Given the description of an element on the screen output the (x, y) to click on. 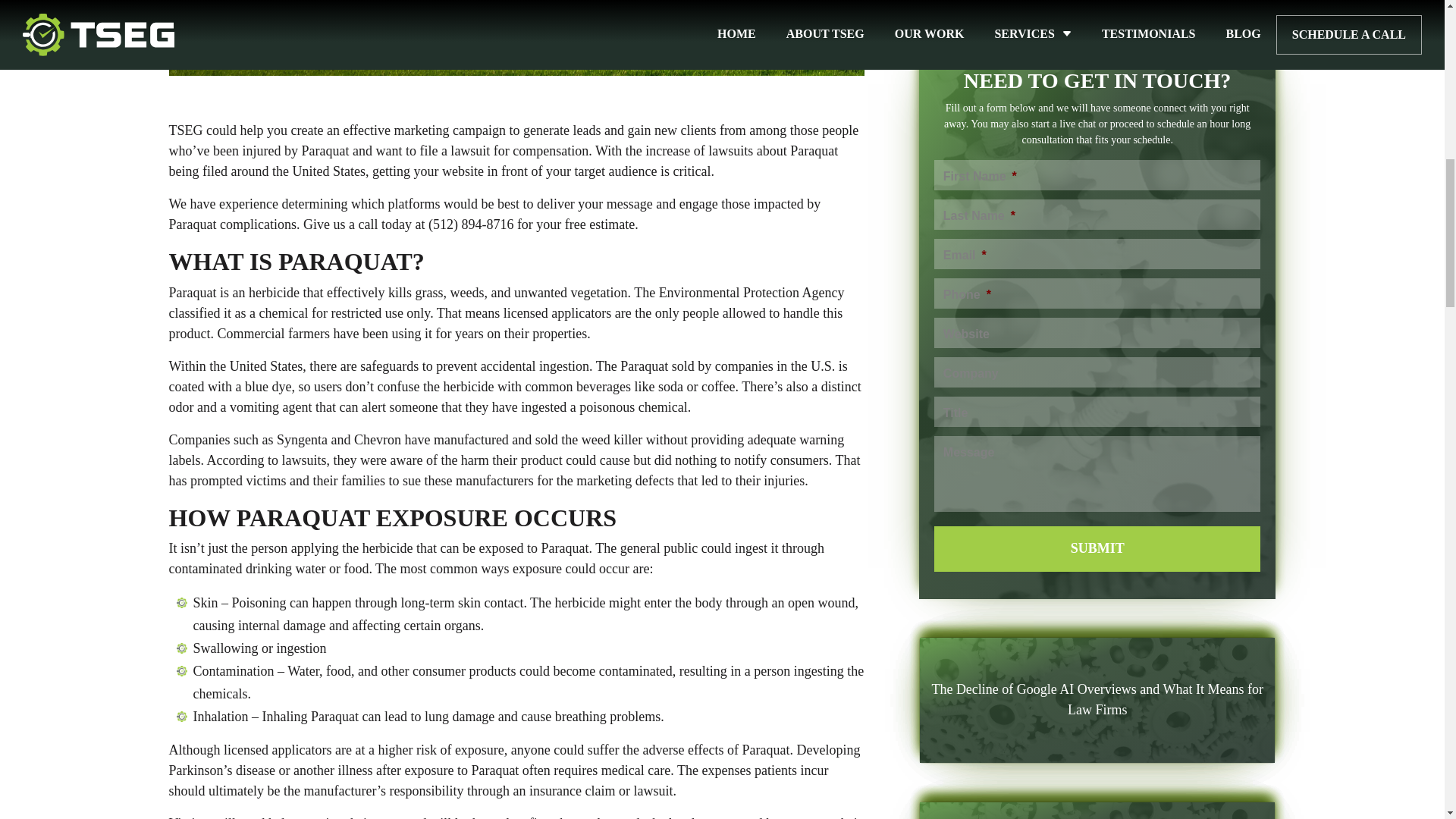
Mastering Multi-Channel Search Optimization for Law Firms (1097, 383)
Submit (1097, 67)
Submit (1097, 67)
